Given the description of an element on the screen output the (x, y) to click on. 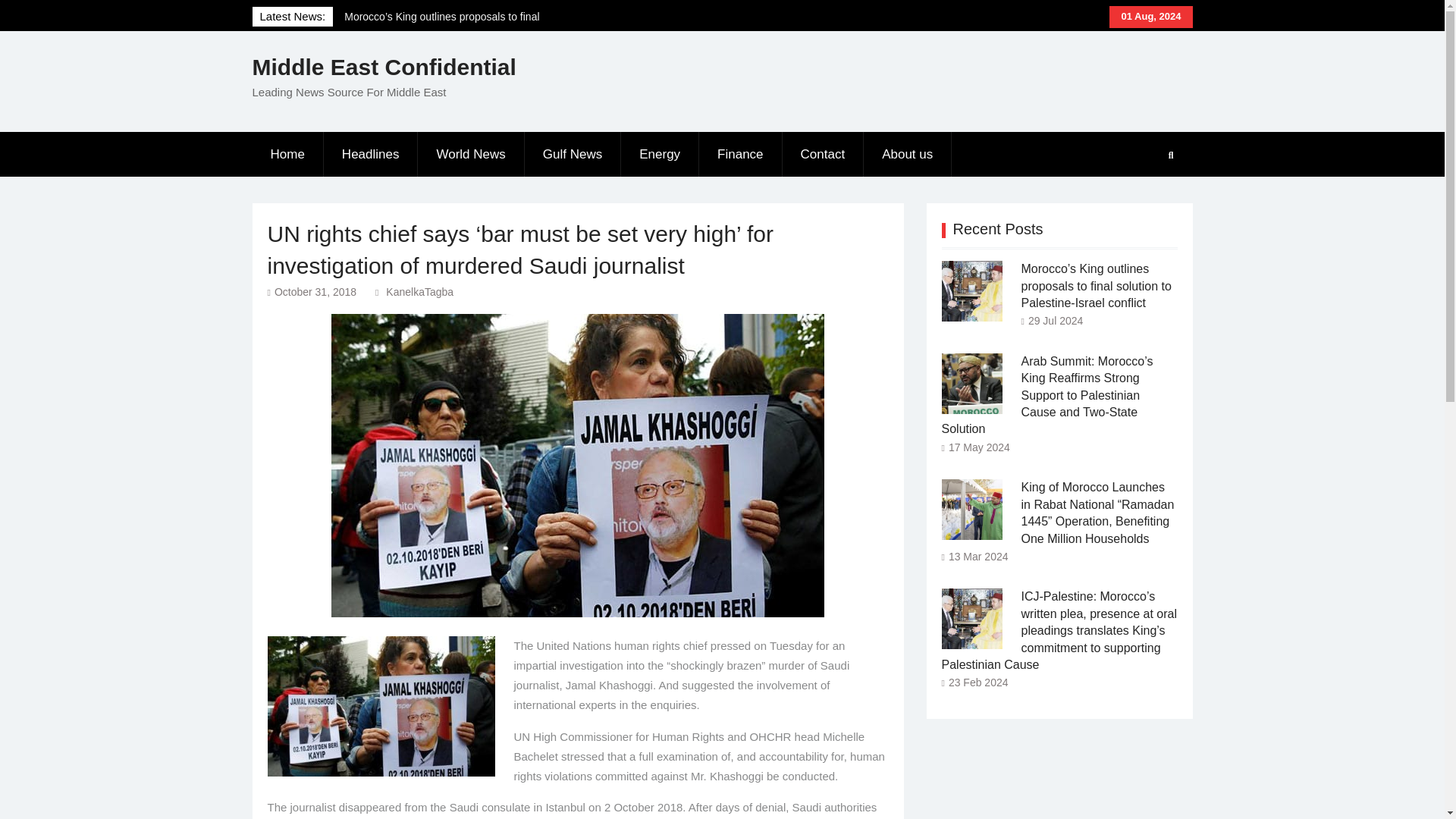
World News (470, 154)
Home (287, 154)
Middle East Confidential (383, 66)
Headlines (371, 154)
KanelkaTagba (418, 291)
Finance (739, 154)
October 31, 2018 (315, 291)
About us (907, 154)
Gulf News (572, 154)
Contact (823, 154)
Energy (659, 154)
